Given the description of an element on the screen output the (x, y) to click on. 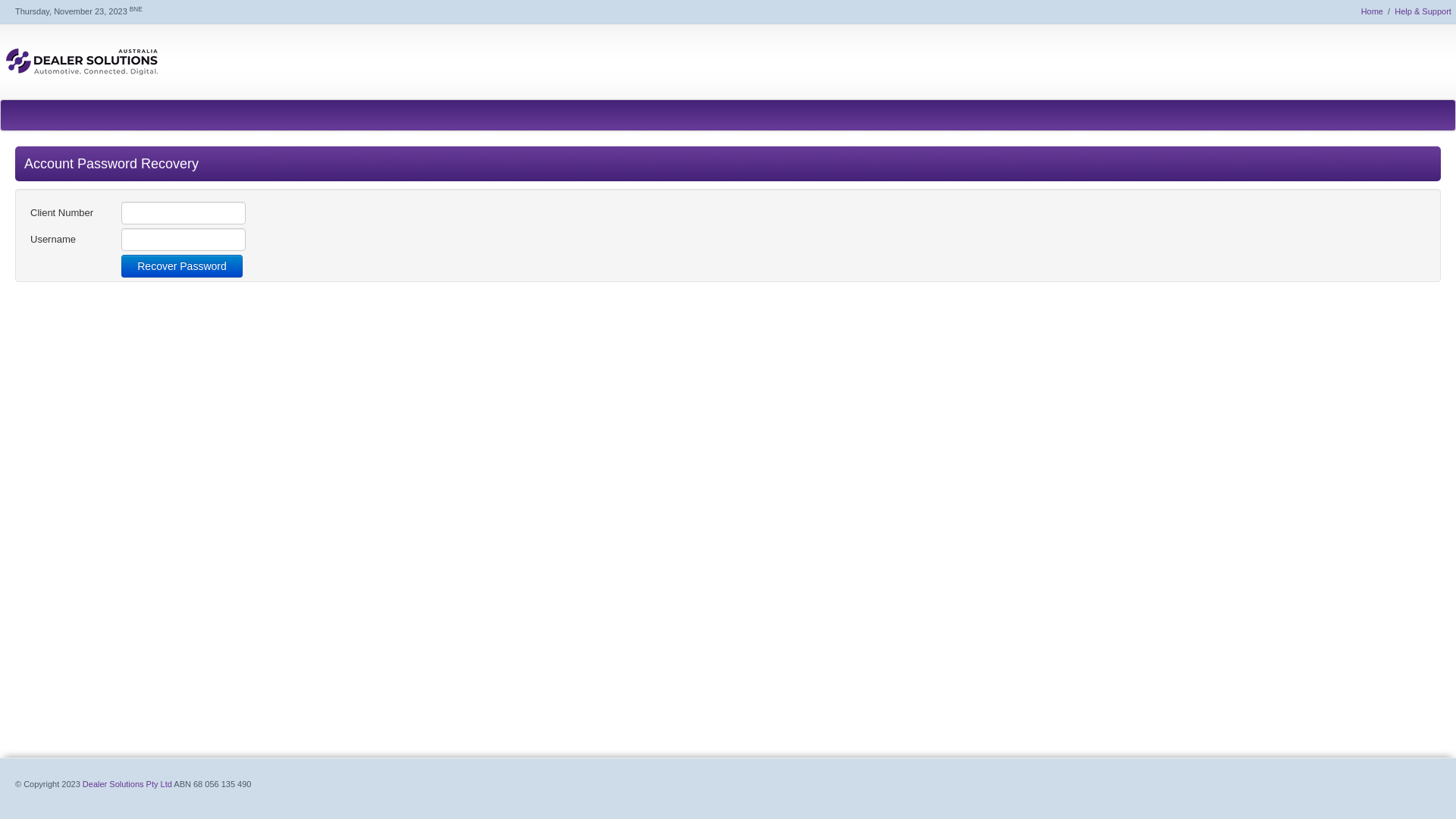
Home Element type: text (1372, 10)
Dealer Solutions Pty Ltd Element type: text (127, 783)
Recover Password Element type: text (181, 265)
